Given the description of an element on the screen output the (x, y) to click on. 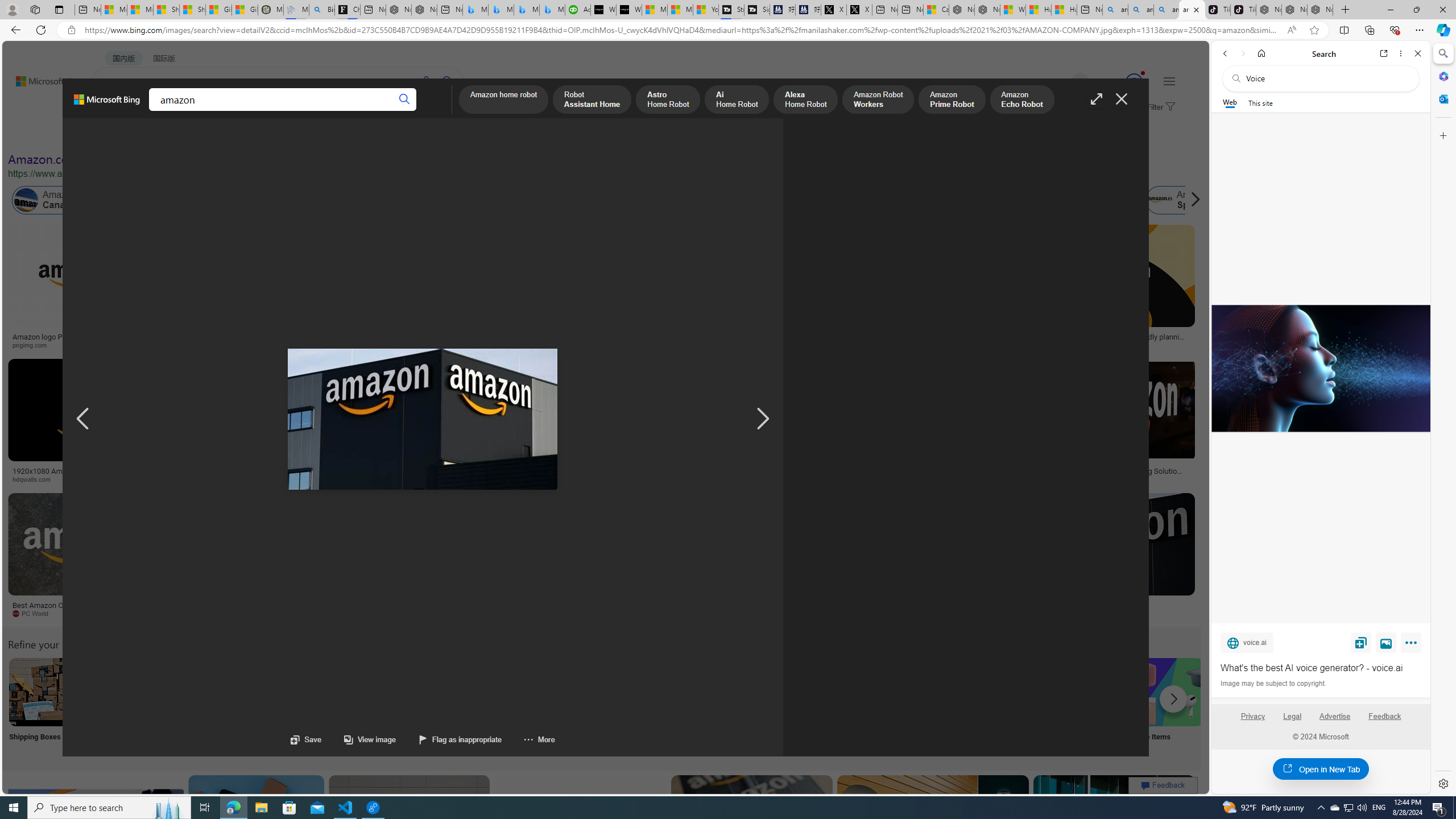
Microsoft Start Sports (654, 9)
Amazon Prime Shopping Online Prime Shopping Online (944, 706)
Bing Real Estate - Home sales and rental listings (321, 9)
Settings (1442, 783)
Marketplace (397, 479)
cordcuttersnews.com (916, 613)
Long Island Press (628, 479)
Amazon Wish List (568, 691)
mobilemarketingmagazine.com (1099, 479)
protothema.gr (1105, 613)
Long Island Press (593, 479)
